Given the description of an element on the screen output the (x, y) to click on. 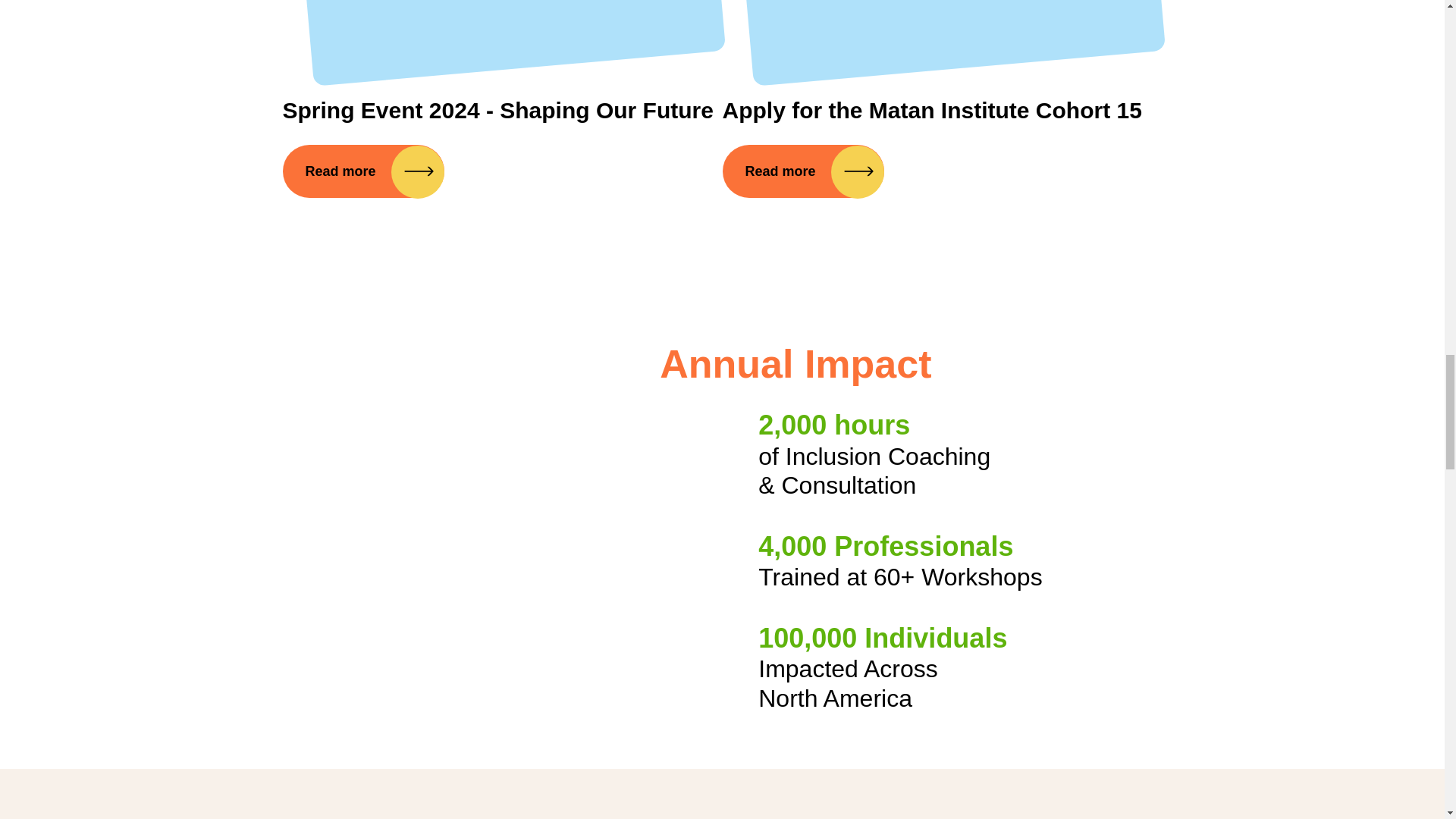
Read more (802, 171)
Read more (363, 171)
